Given the description of an element on the screen output the (x, y) to click on. 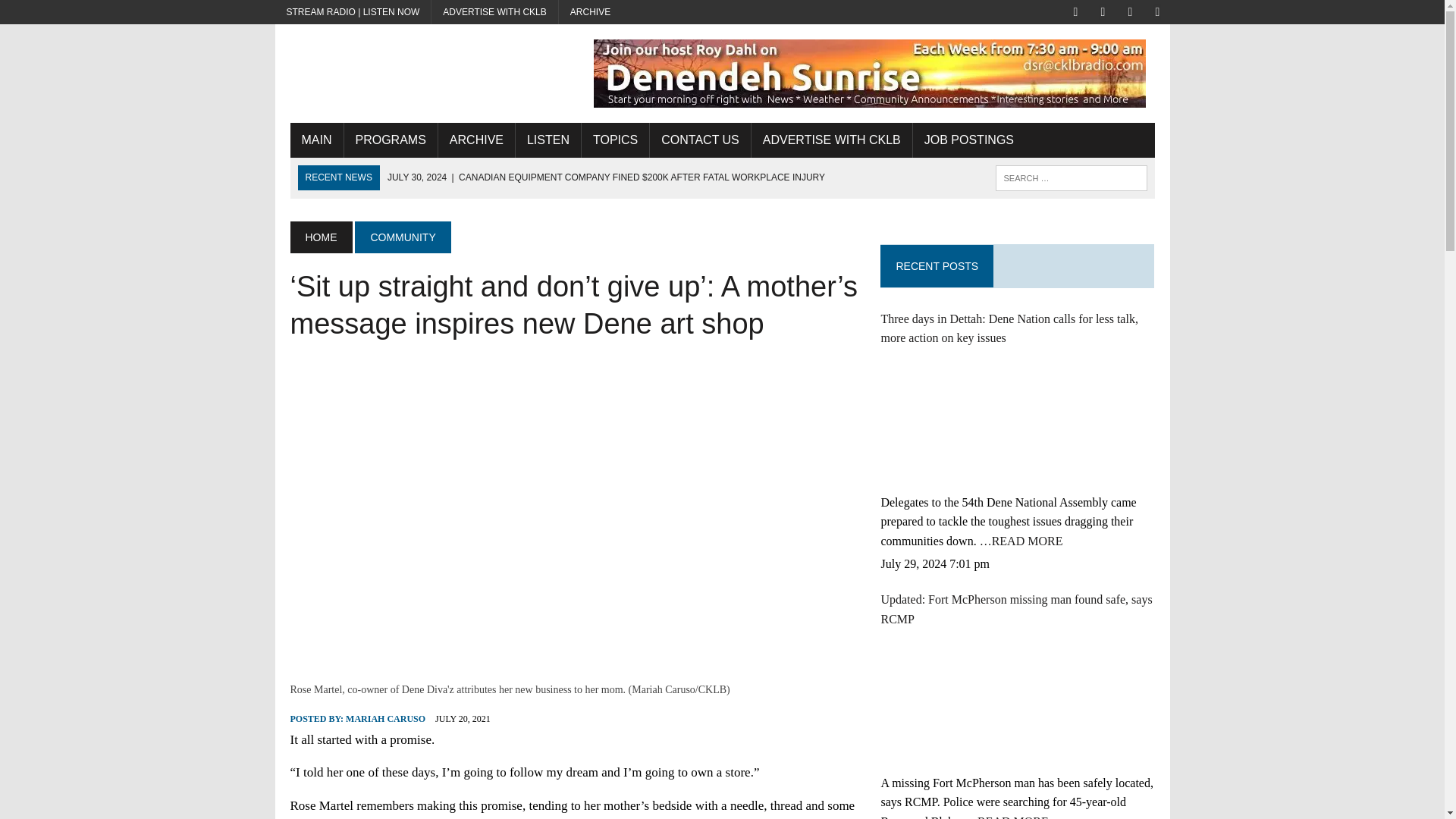
CKLB Radio (426, 48)
ADVERTISE WITH CKLB (493, 12)
ARCHIVE (590, 12)
PROGRAMS (390, 140)
Updated: Fort McPherson missing man found safe, says RCMP (994, 702)
MAIN (315, 140)
